Given the description of an element on the screen output the (x, y) to click on. 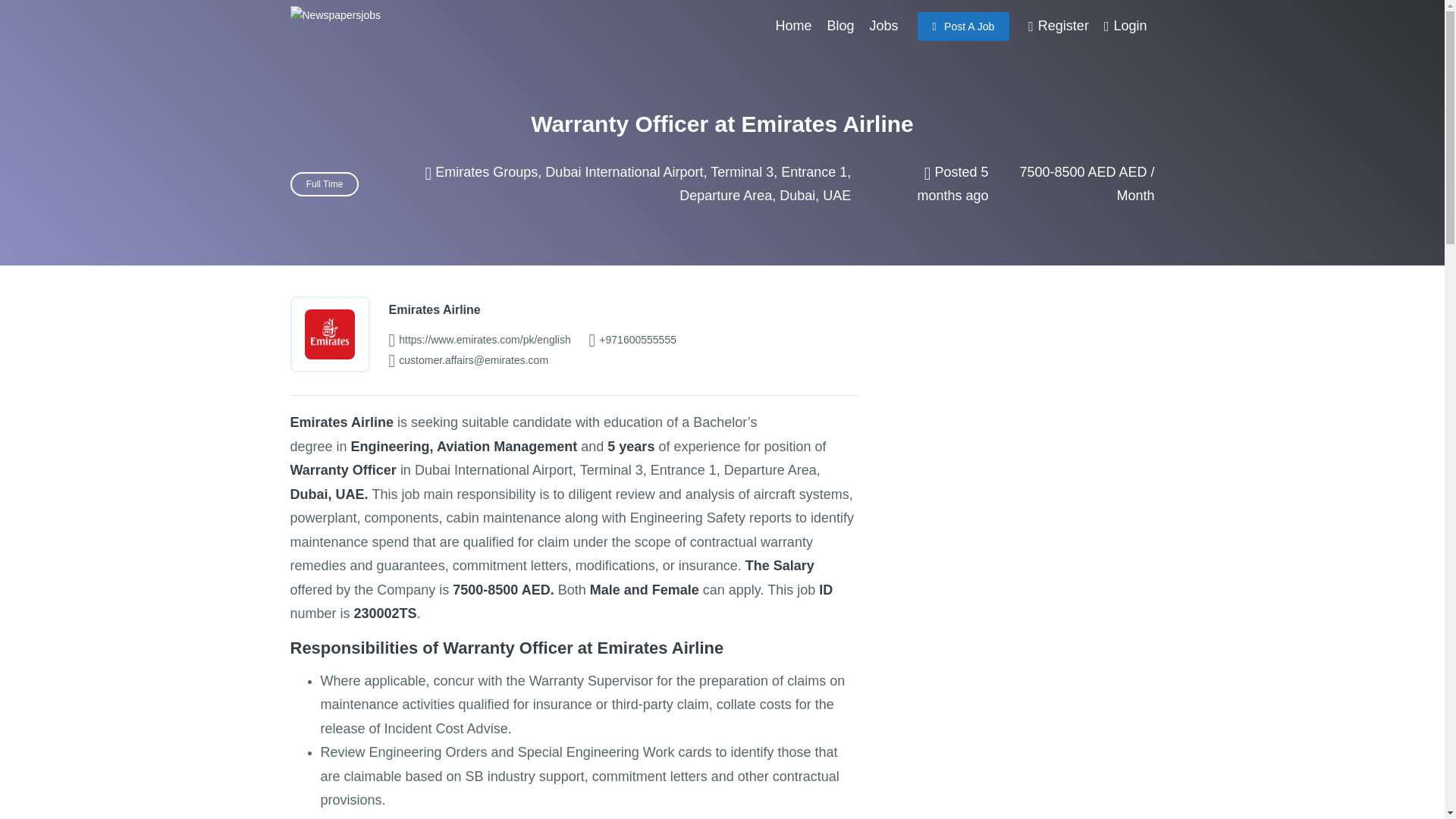
Emirates Airline (434, 309)
Home (793, 26)
Register (1058, 26)
Post A Job (963, 26)
Jobs (883, 26)
Blog (840, 26)
Login (1125, 26)
